Given the description of an element on the screen output the (x, y) to click on. 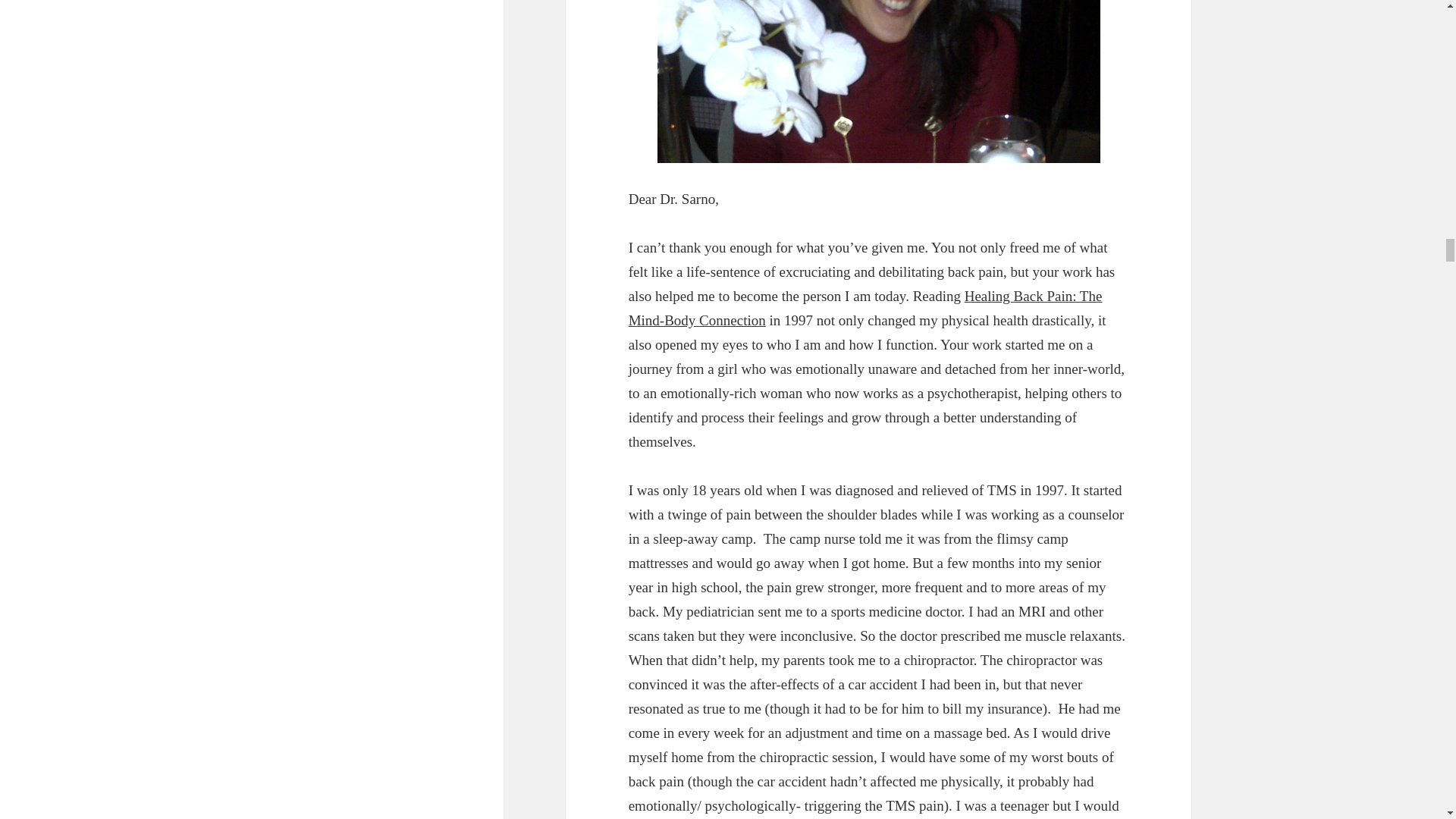
Liz's Picture (879, 81)
